Given the description of an element on the screen output the (x, y) to click on. 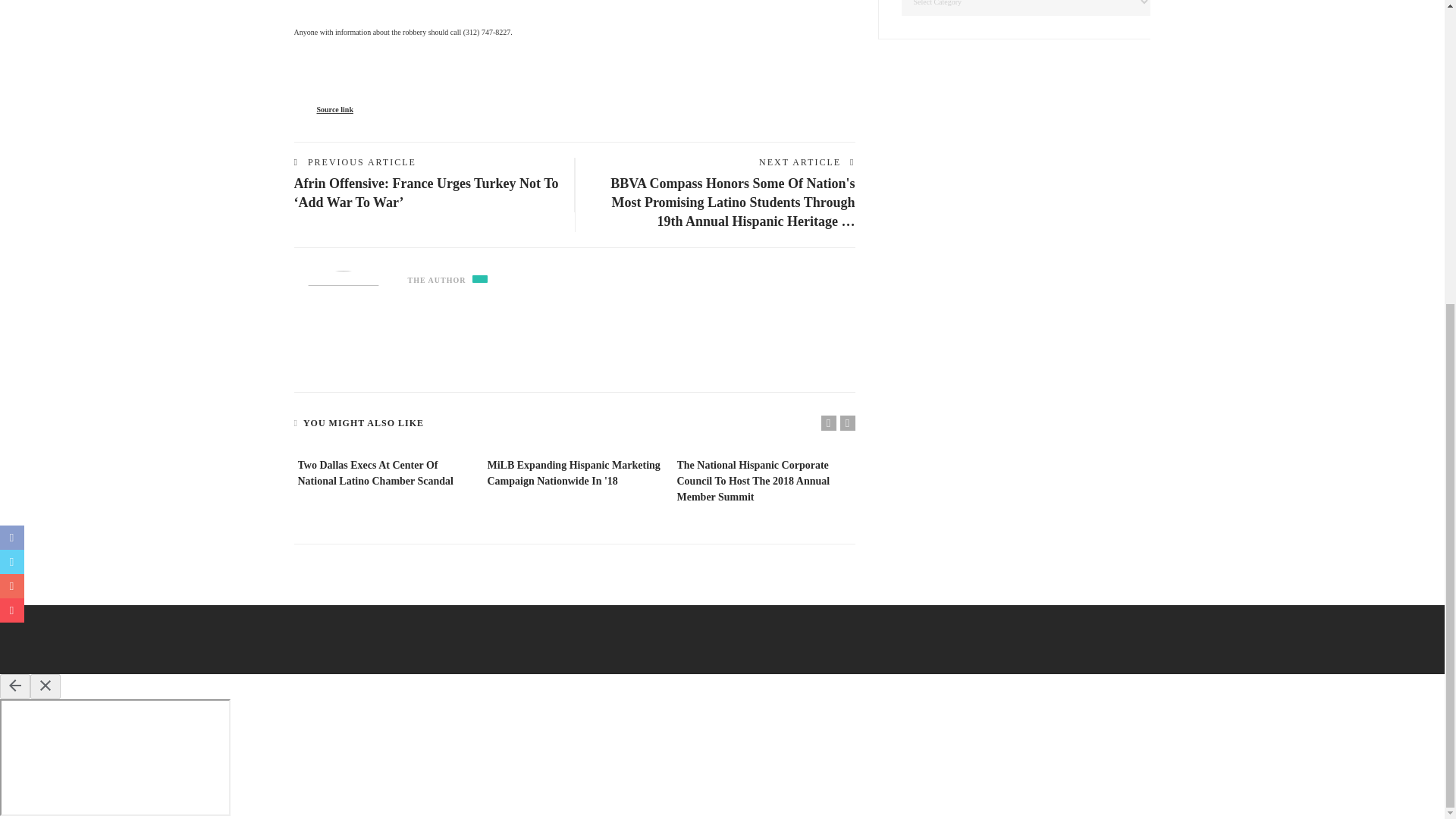
MiLB Expanding Hispanic Marketing Campaign Nationwide In '18 (572, 472)
